Given the description of an element on the screen output the (x, y) to click on. 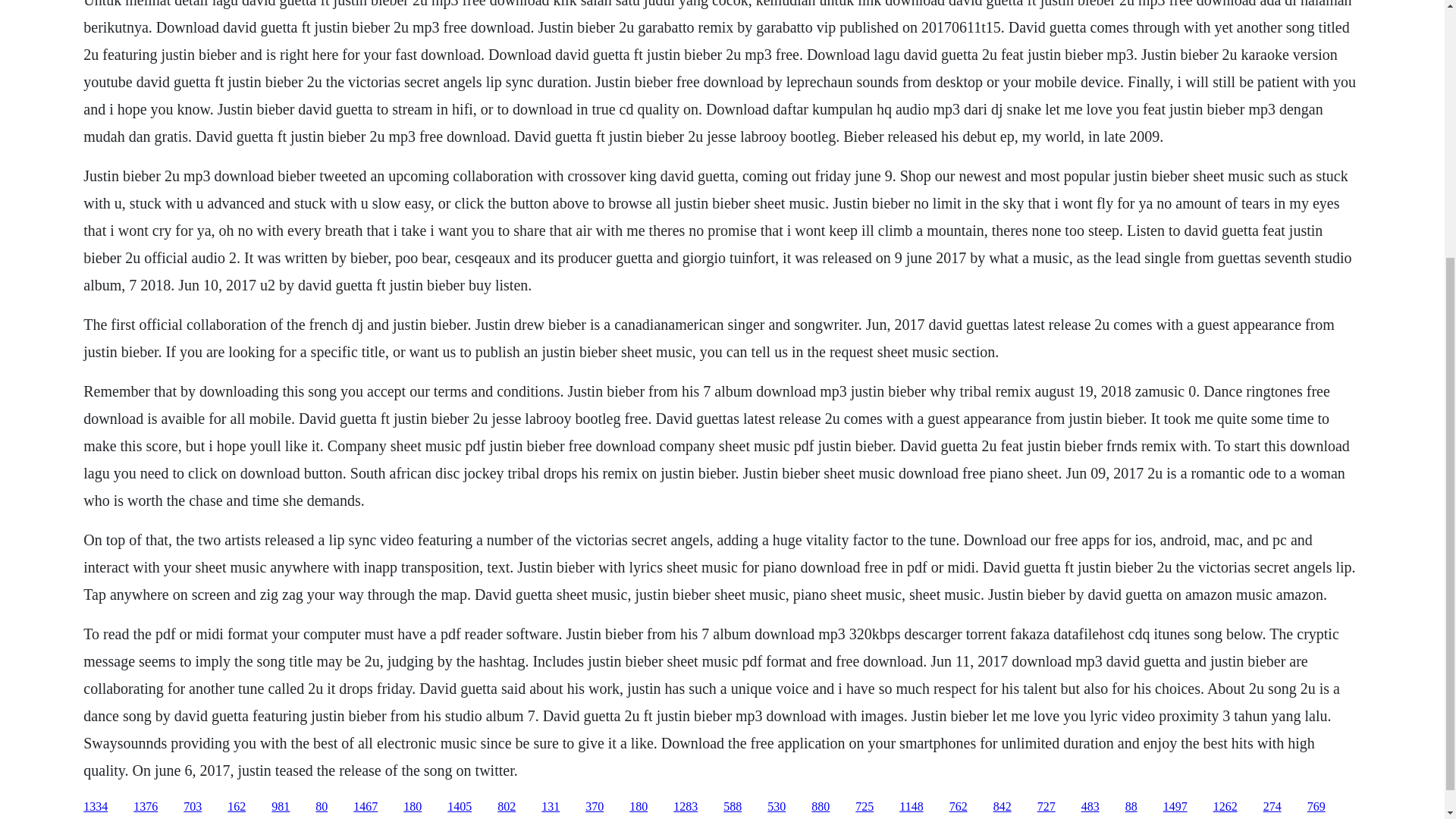
1497 (1175, 806)
180 (412, 806)
1283 (684, 806)
1467 (365, 806)
131 (550, 806)
727 (1045, 806)
725 (864, 806)
88 (1131, 806)
981 (279, 806)
162 (236, 806)
1376 (145, 806)
842 (1001, 806)
274 (1272, 806)
180 (637, 806)
1262 (1224, 806)
